Given the description of an element on the screen output the (x, y) to click on. 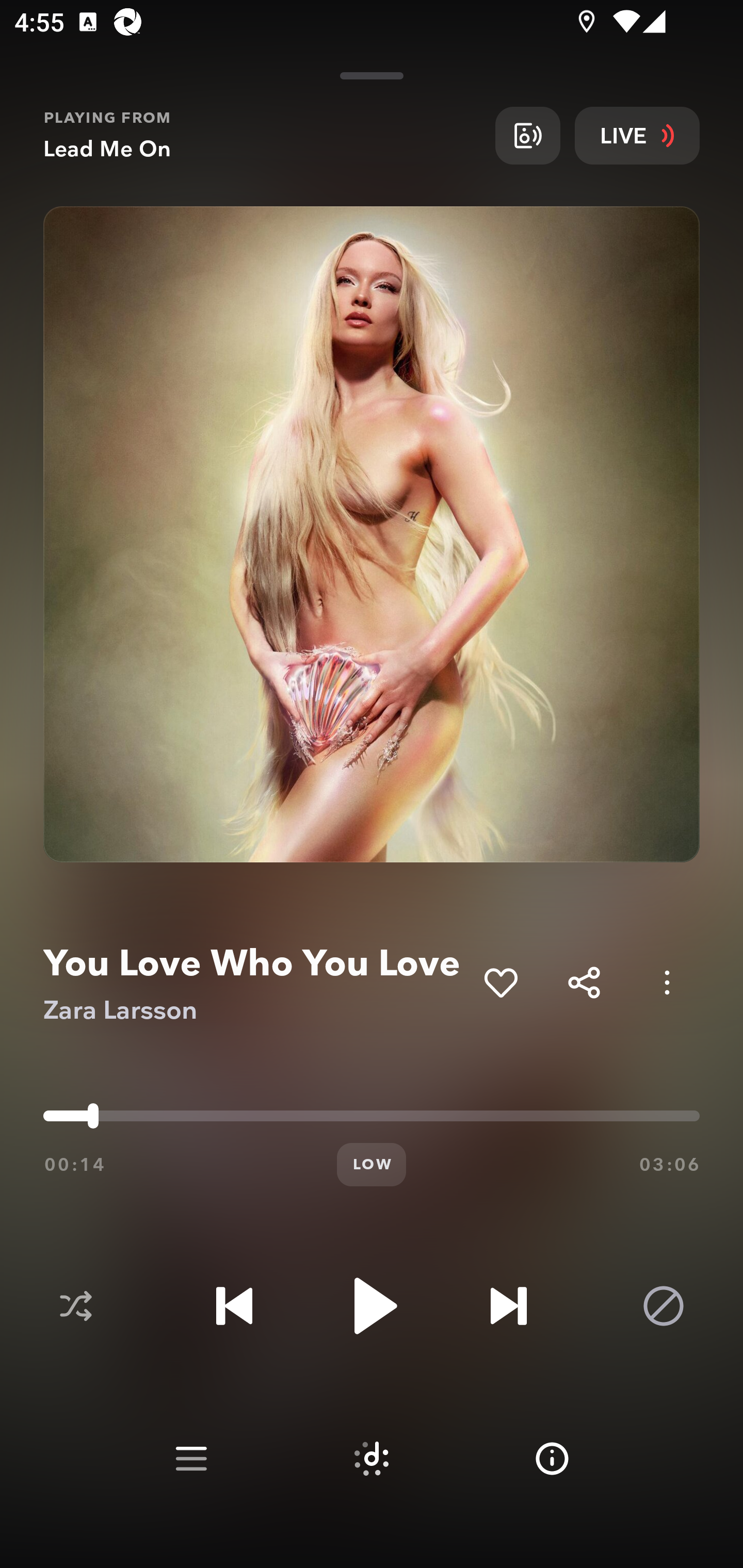
Broadcast (527, 135)
LIVE (637, 135)
PLAYING FROM Lead Me On (261, 135)
You Love Who You Love Zara Larsson (255, 983)
Add to My Collection (500, 982)
Share (583, 982)
Options (666, 982)
LOW (371, 1164)
Play (371, 1306)
Previous (234, 1306)
Next (508, 1306)
Block (663, 1306)
Shuffle disabled (75, 1306)
Play queue (191, 1458)
Suggested tracks (371, 1458)
Info (551, 1458)
